Given the description of an element on the screen output the (x, y) to click on. 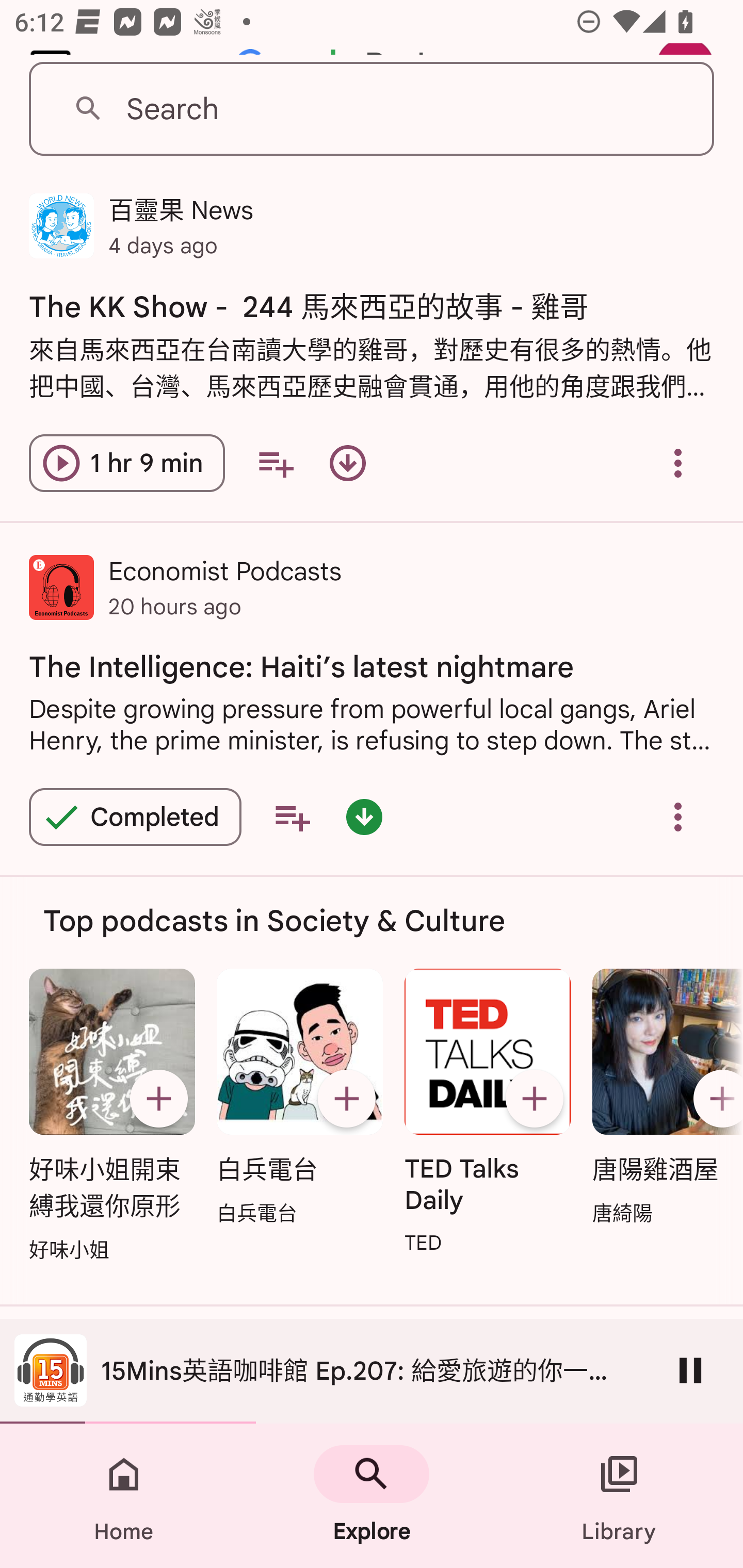
Search (371, 108)
Add to your queue (275, 463)
Download episode (347, 463)
Overflow menu (677, 463)
Add to your queue (291, 816)
Episode downloaded - double tap for options (364, 816)
Overflow menu (677, 816)
好味小姐開束縛我還你原形 Subscribe 好味小姐開束縛我還你原形 好味小姐 (111, 1116)
白兵電台 Subscribe 白兵電台 白兵電台 (299, 1098)
TED Talks Daily Subscribe TED Talks Daily TED (487, 1113)
唐陽雞酒屋 Subscribe 唐陽雞酒屋 唐綺陽 (662, 1098)
Subscribe (158, 1099)
Subscribe (346, 1099)
Subscribe (534, 1099)
Subscribe (714, 1099)
Pause (690, 1370)
Home (123, 1495)
Library (619, 1495)
